Given the description of an element on the screen output the (x, y) to click on. 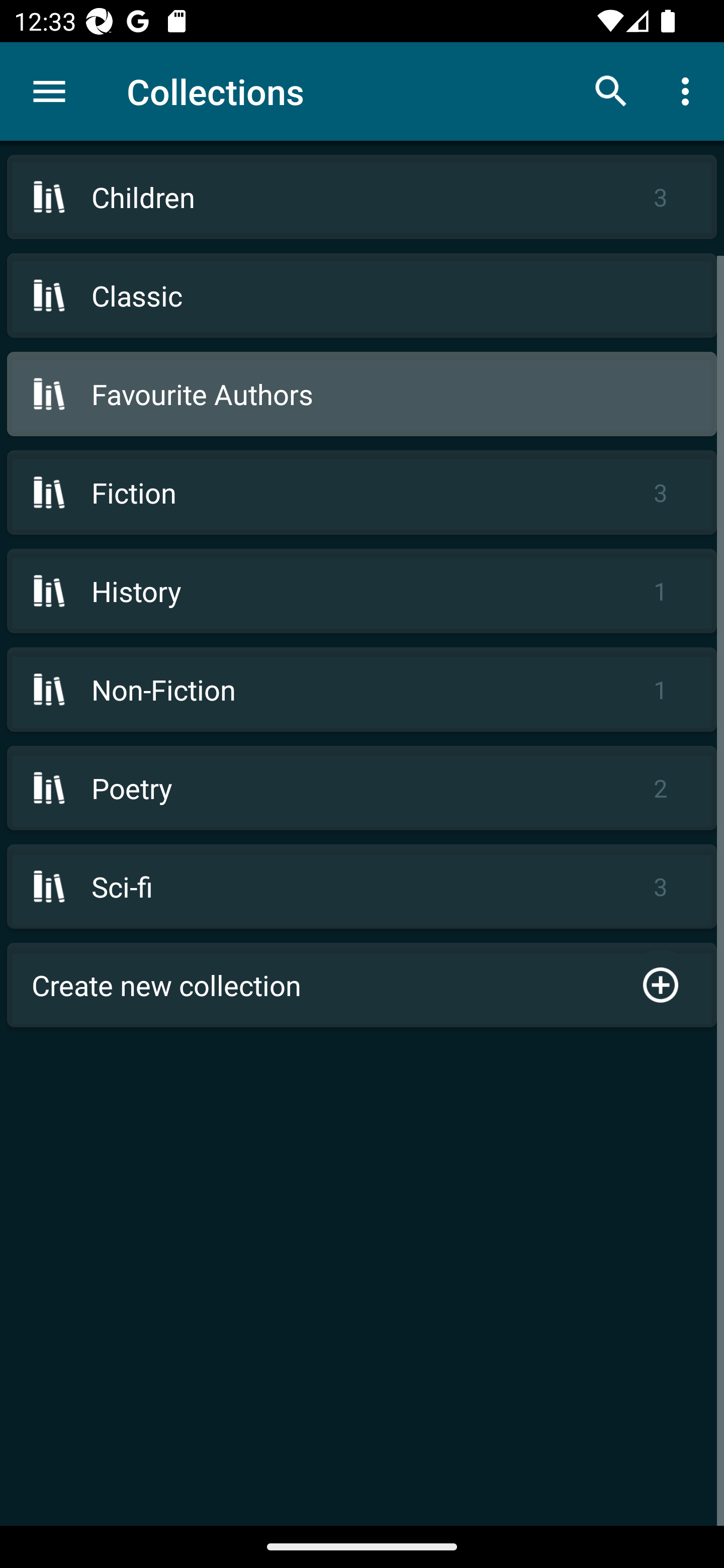
Menu (49, 91)
Search books & documents (611, 90)
More options (688, 90)
Children 3 (361, 197)
Classic (361, 295)
Favourite Authors (361, 393)
Fiction 3 (361, 492)
History 1 (361, 590)
Non-Fiction 1 (361, 689)
Poetry 2 (361, 787)
Sci-fi 3 (361, 885)
Create new collection (361, 984)
